Given the description of an element on the screen output the (x, y) to click on. 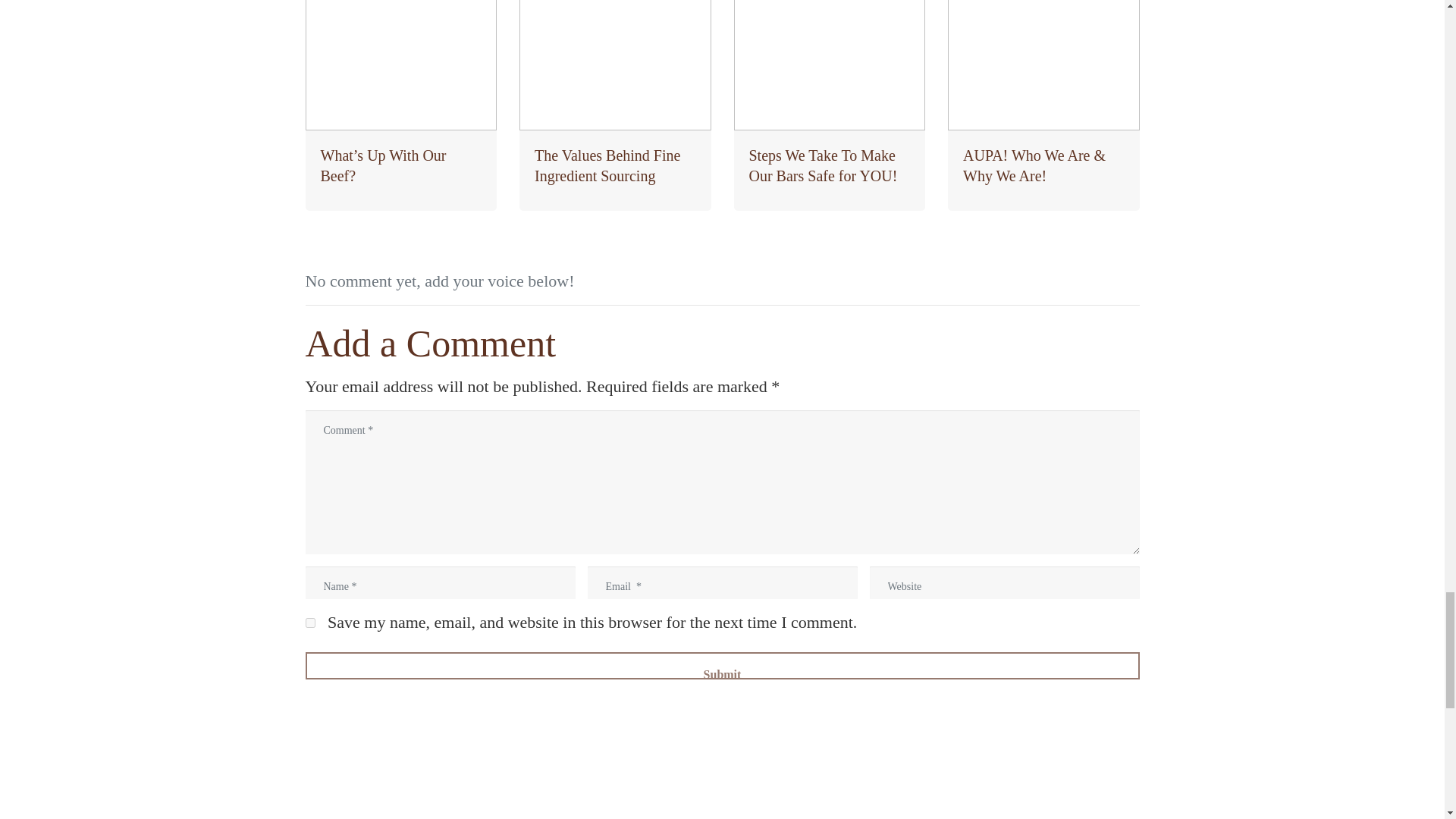
Steps We Take To Make Our Bars Safe for YOU! (829, 105)
The Values Behind Fine Ingredient Sourcing (615, 105)
yes (309, 623)
